Given the description of an element on the screen output the (x, y) to click on. 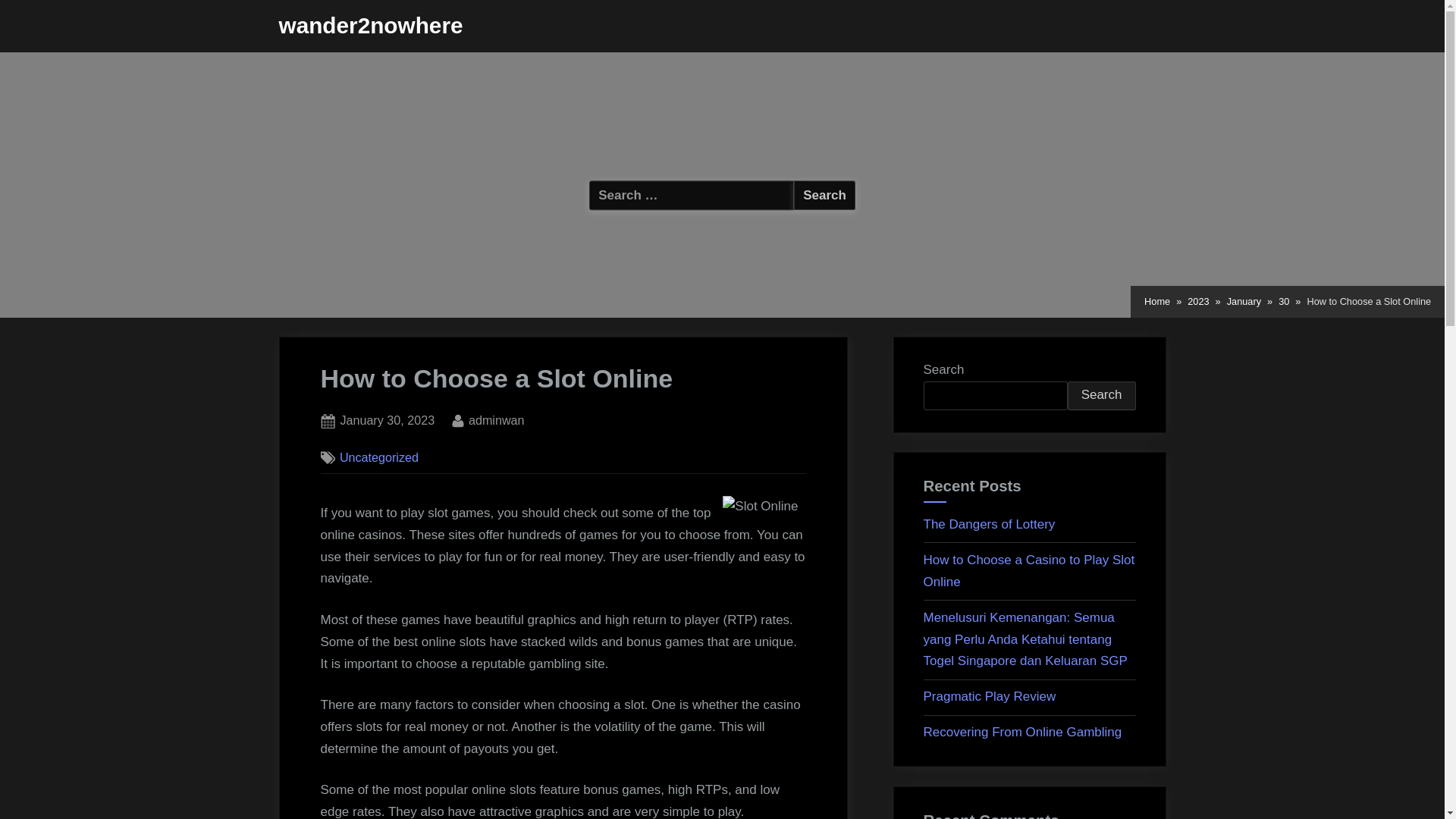
Search (824, 194)
Search (824, 194)
Uncategorized (379, 457)
Recovering From Online Gambling (1022, 731)
How to Choose a Casino to Play Slot Online (1029, 570)
2023 (1198, 301)
Search (1101, 395)
Pragmatic Play Review (990, 696)
The Dangers of Lottery (989, 523)
Home (1157, 301)
January (496, 420)
30 (1243, 301)
